Given the description of an element on the screen output the (x, y) to click on. 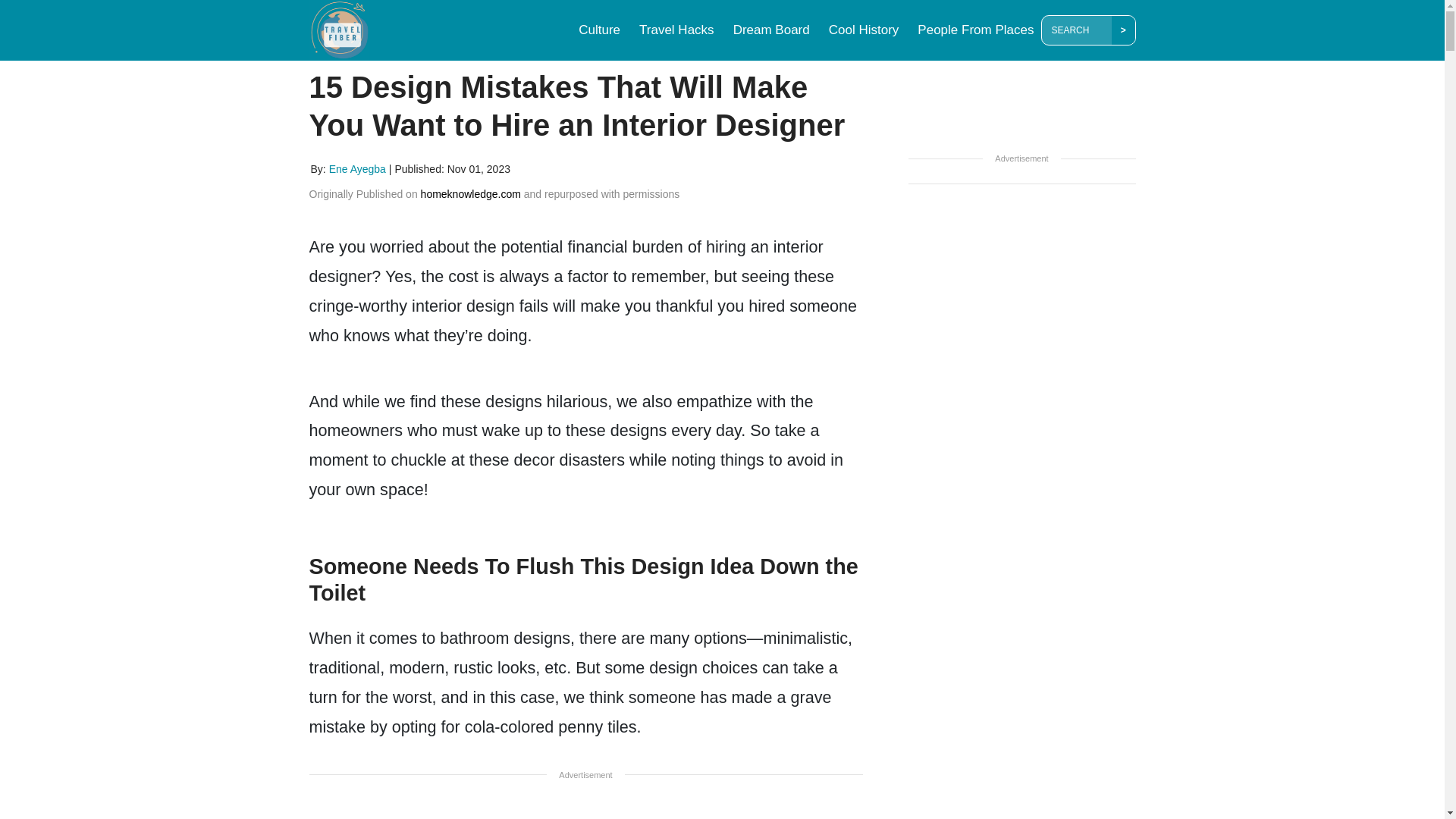
Dream Board (770, 30)
Culture (598, 30)
homeknowledge.com (470, 193)
Travel Hacks (676, 30)
People From Places (975, 30)
Cool History (864, 30)
Search (1079, 30)
Ene Ayegba (358, 168)
